Given the description of an element on the screen output the (x, y) to click on. 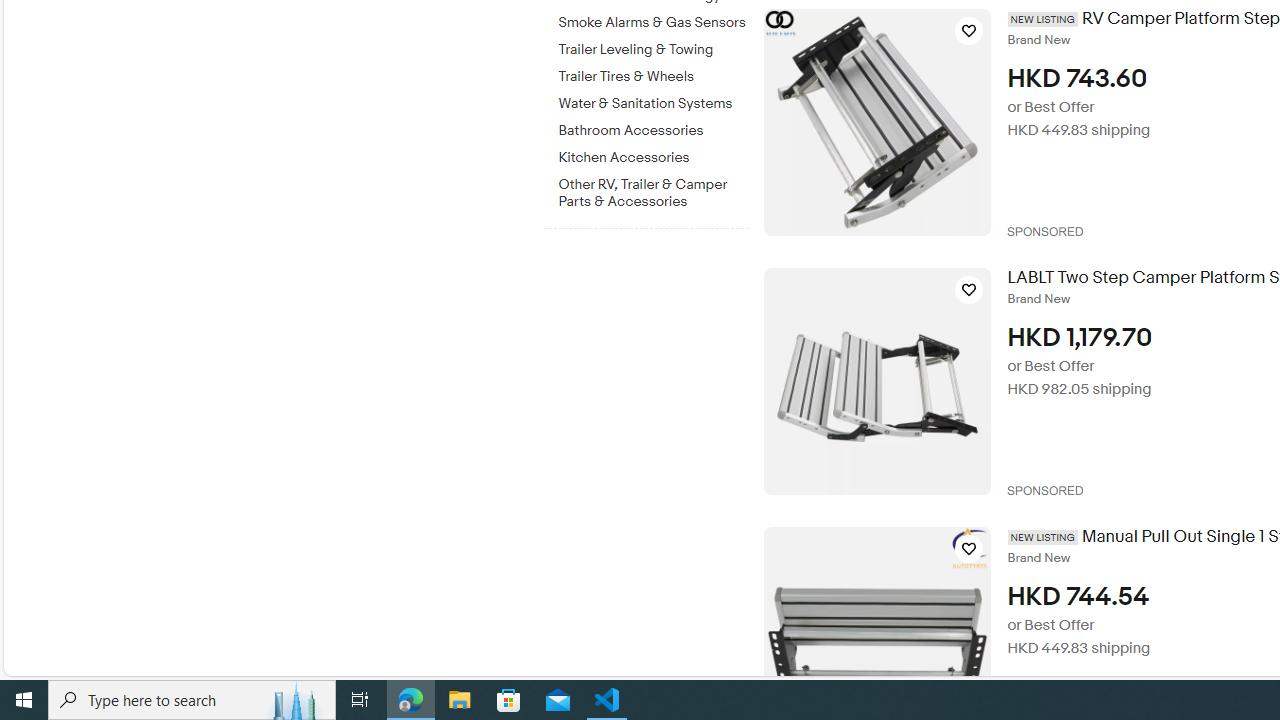
Kitchen Accessories (653, 158)
Trailer Tires & Wheels (653, 77)
